Given the description of an element on the screen output the (x, y) to click on. 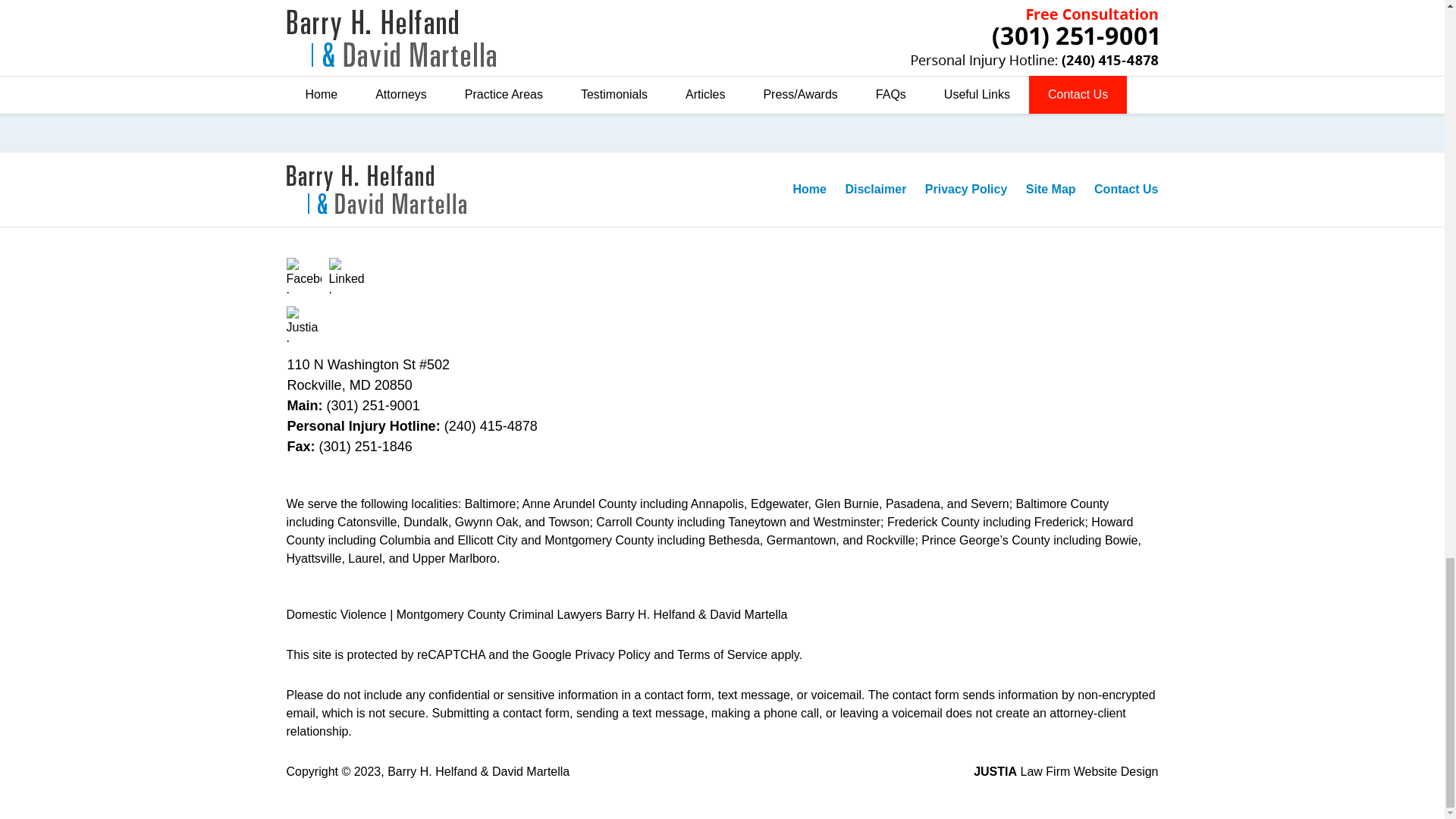
VIEW MORE (721, 18)
Submit a Law Firm Client Review (722, 68)
Justia (303, 324)
LinkedIn (347, 275)
Facebook (303, 275)
